Given the description of an element on the screen output the (x, y) to click on. 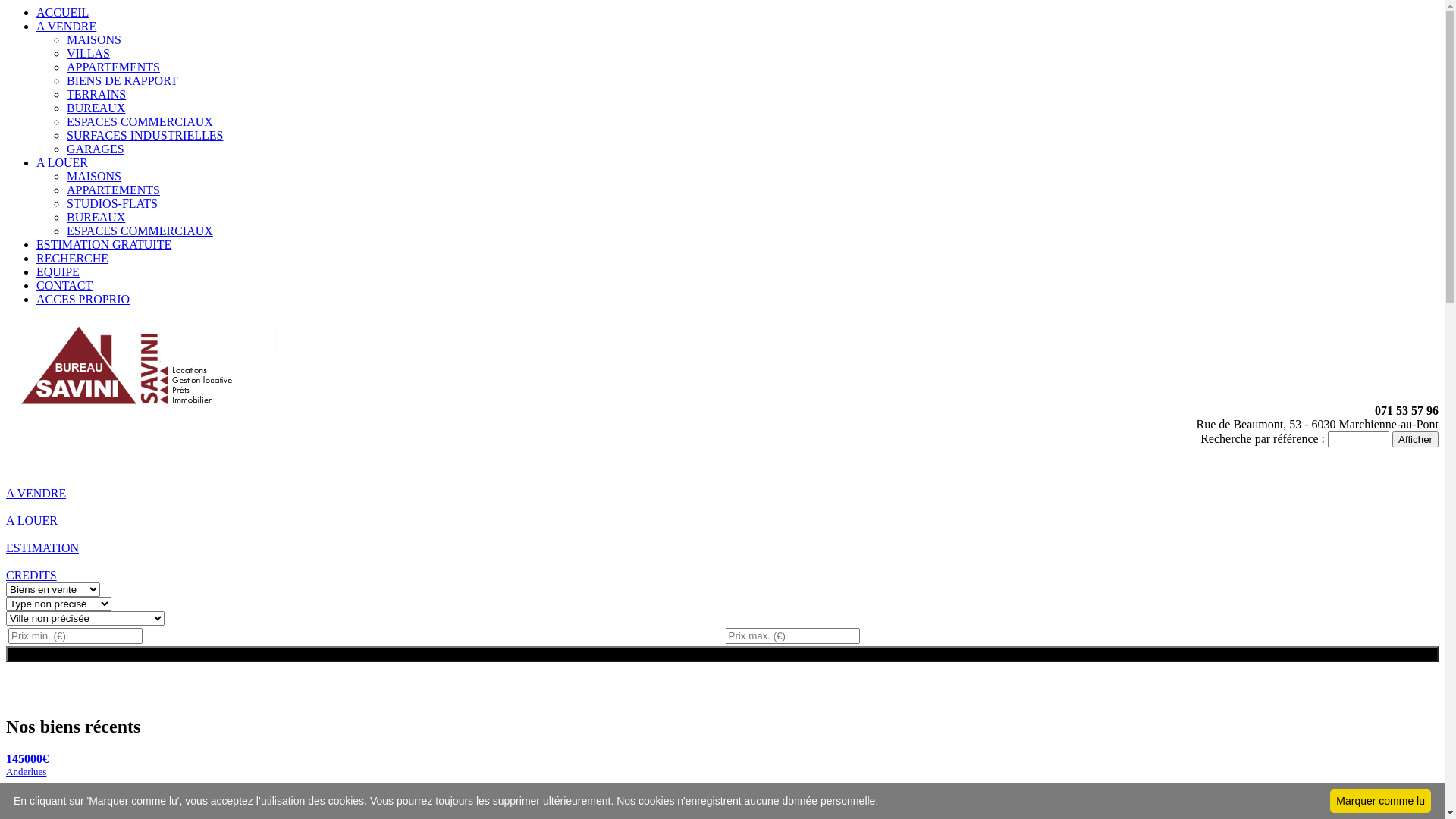
BIENS DE RAPPORT Element type: text (122, 80)
TERRAINS Element type: text (95, 93)
RECHERCHE Element type: text (72, 257)
MAISONS Element type: text (93, 39)
ACCES PROPRIO Element type: text (82, 298)
BUREAUX Element type: text (95, 107)
ESTIMATION Element type: text (42, 554)
A LOUER Element type: text (31, 527)
A LOUER Element type: text (61, 162)
VILLAS Element type: text (87, 53)
ESTIMATION GRATUITE Element type: text (103, 244)
SURFACES INDUSTRIELLES Element type: text (144, 134)
TROUVER MON BIEN Element type: text (722, 654)
A VENDRE Element type: text (66, 25)
ACCUEIL Element type: text (62, 12)
MAISONS Element type: text (93, 175)
CONTACT Element type: text (64, 285)
GARAGES Element type: text (95, 148)
BUREAUX Element type: text (95, 216)
ESPACES COMMERCIAUX Element type: text (139, 121)
STUDIOS-FLATS Element type: text (111, 203)
ESPACES COMMERCIAUX Element type: text (139, 230)
CREDITS Element type: text (31, 581)
A VENDRE Element type: text (35, 499)
Afficher Element type: text (1415, 439)
APPARTEMENTS Element type: text (113, 66)
EQUIPE Element type: text (57, 271)
APPARTEMENTS Element type: text (113, 189)
